Given the description of an element on the screen output the (x, y) to click on. 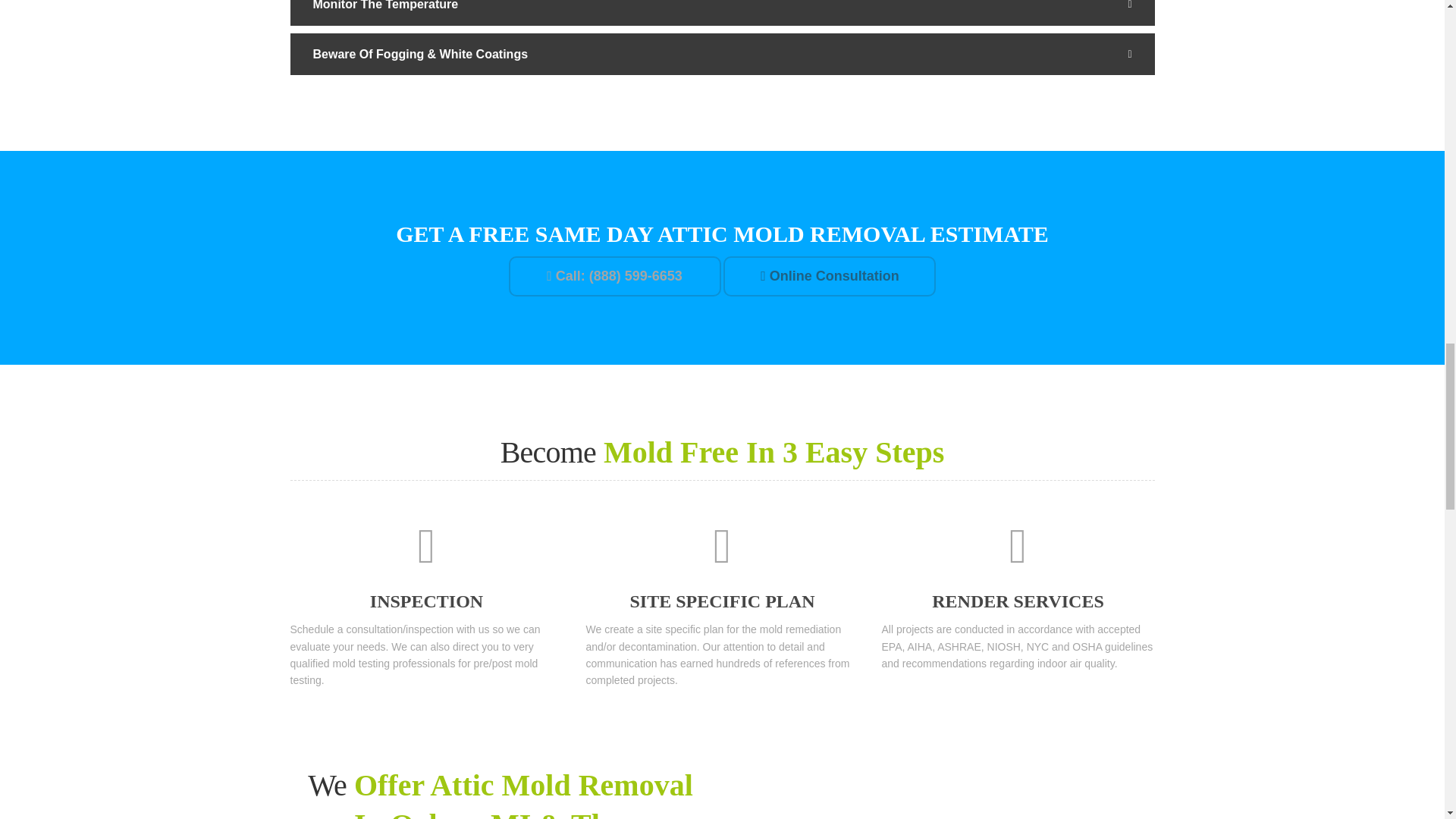
Online Consultation (829, 276)
